Given the description of an element on the screen output the (x, y) to click on. 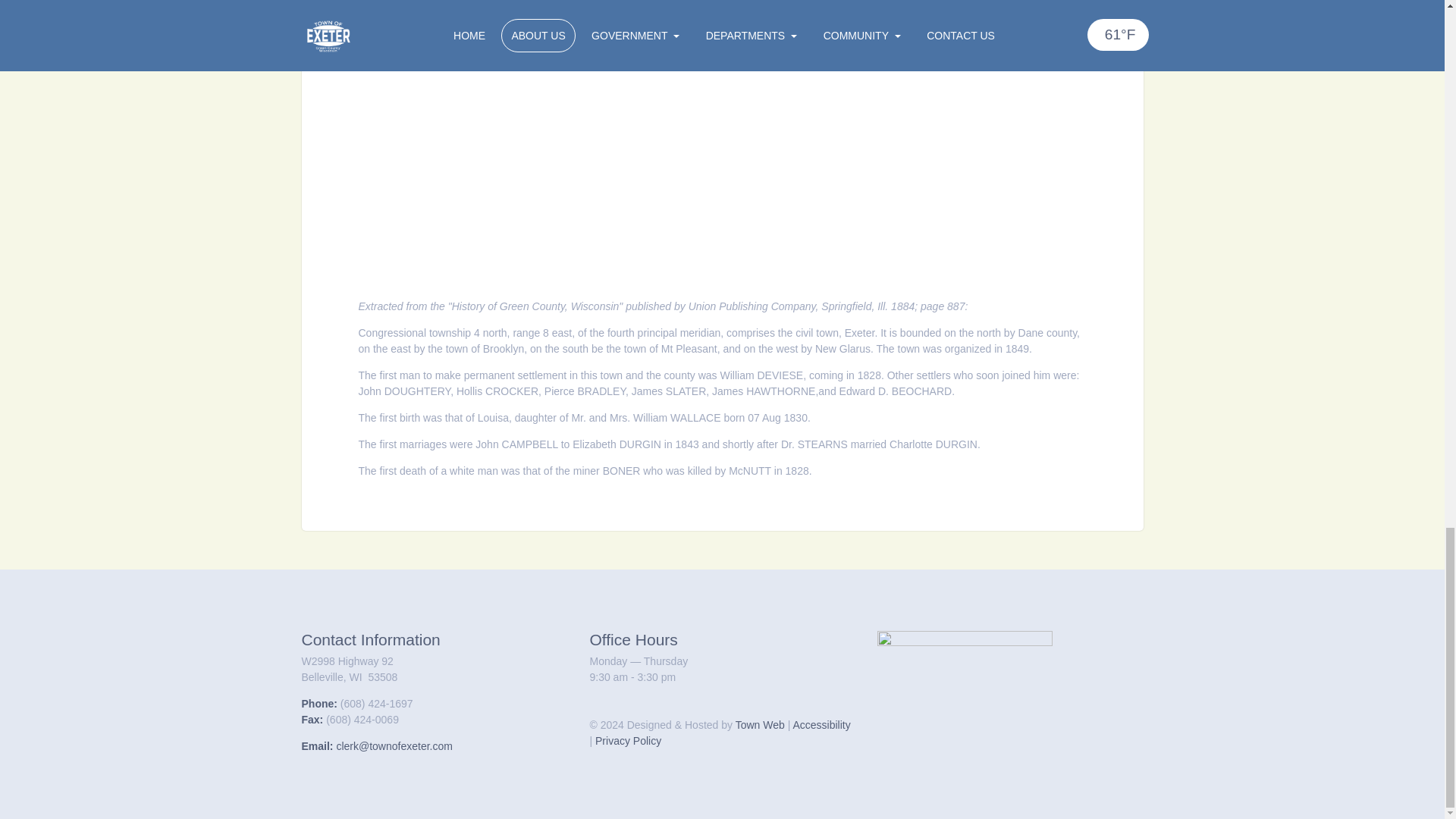
Accessibility (821, 725)
Town Web (759, 725)
Privacy Policy (628, 740)
